Given the description of an element on the screen output the (x, y) to click on. 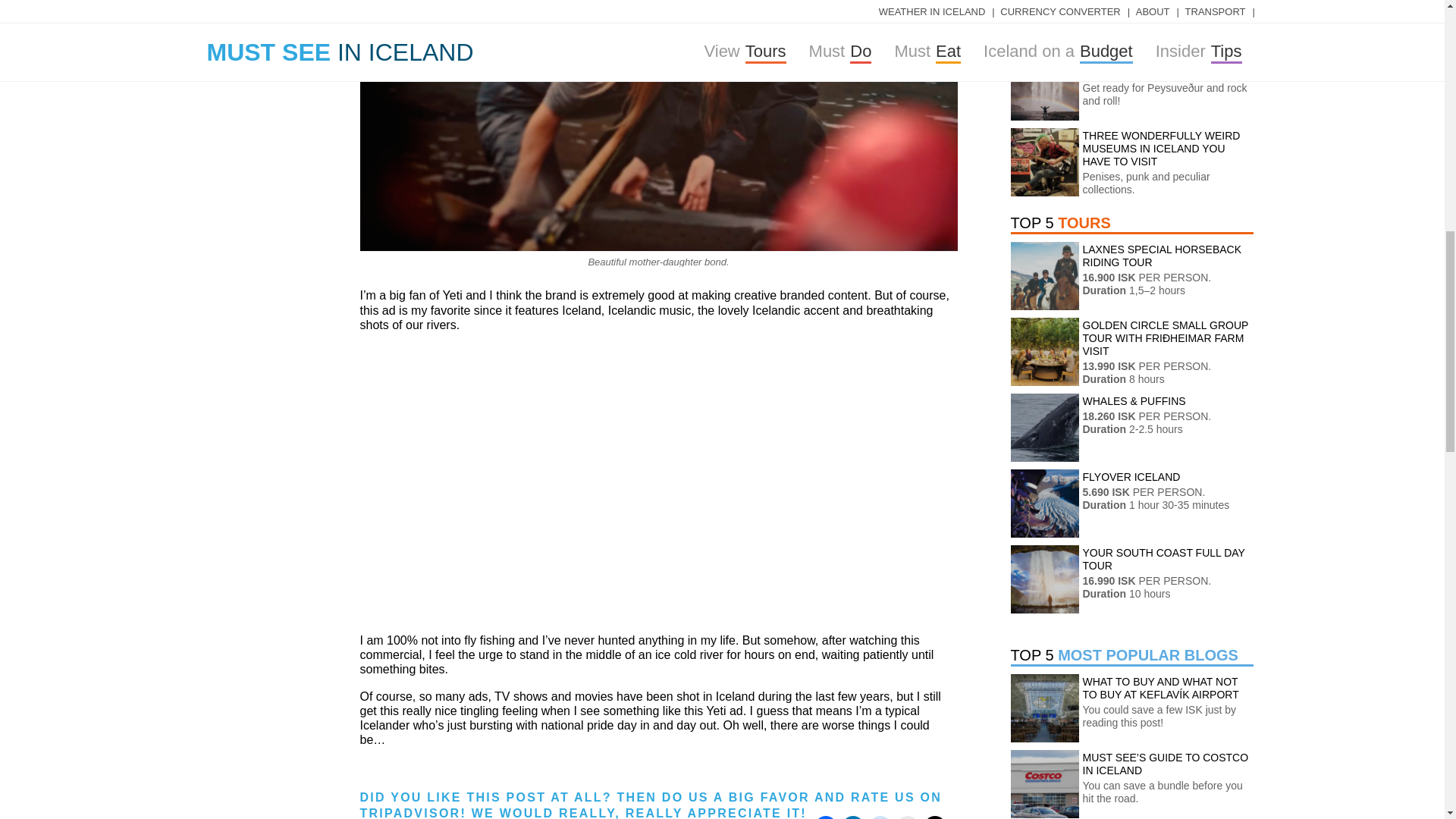
Click to share on Reddit (879, 817)
Click to share on X (933, 817)
Click to share on Facebook (824, 817)
Click to print (906, 817)
Click to share on LinkedIn (852, 817)
